Given the description of an element on the screen output the (x, y) to click on. 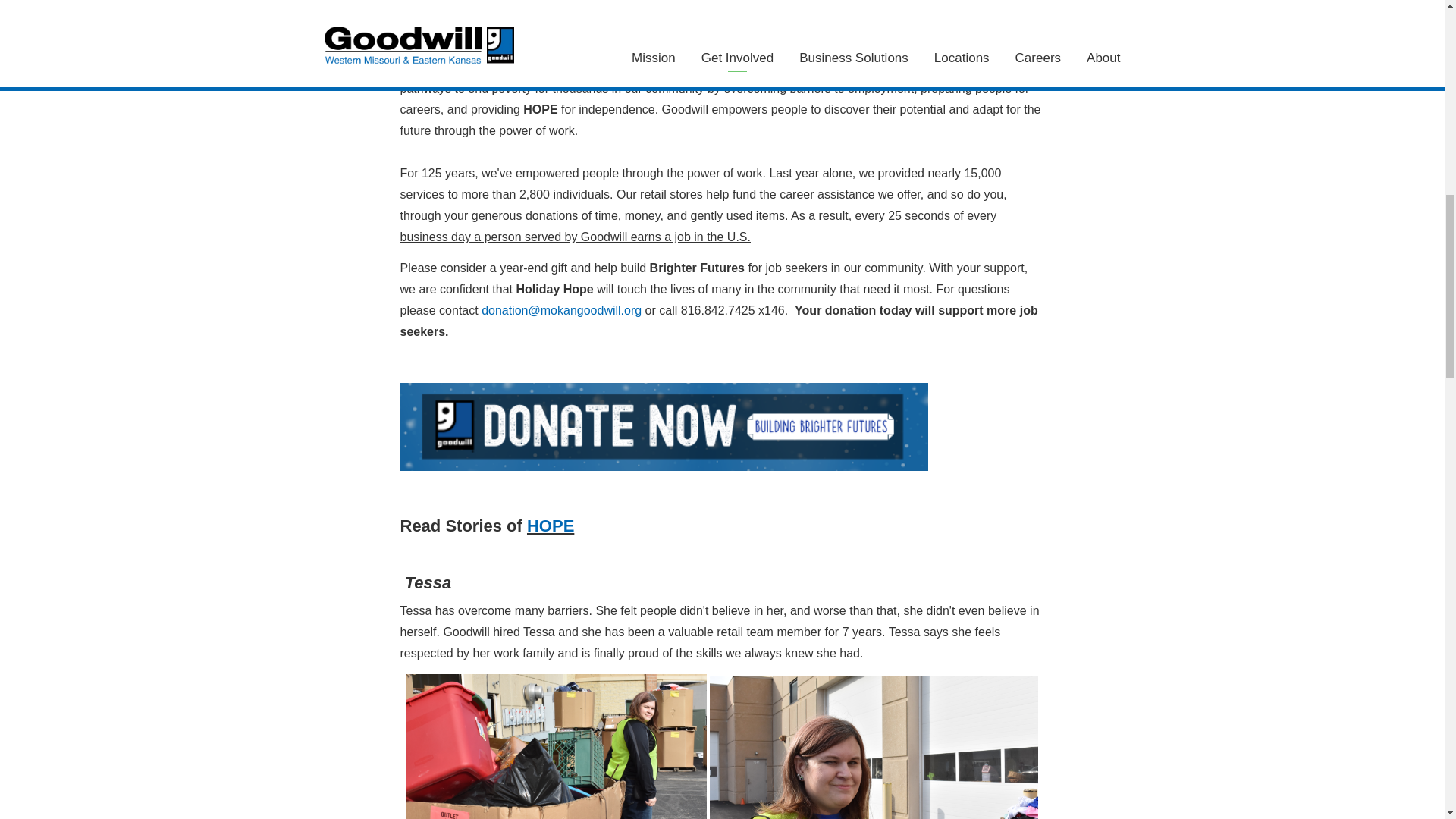
Click Here To Donate  (664, 466)
